Given the description of an element on the screen output the (x, y) to click on. 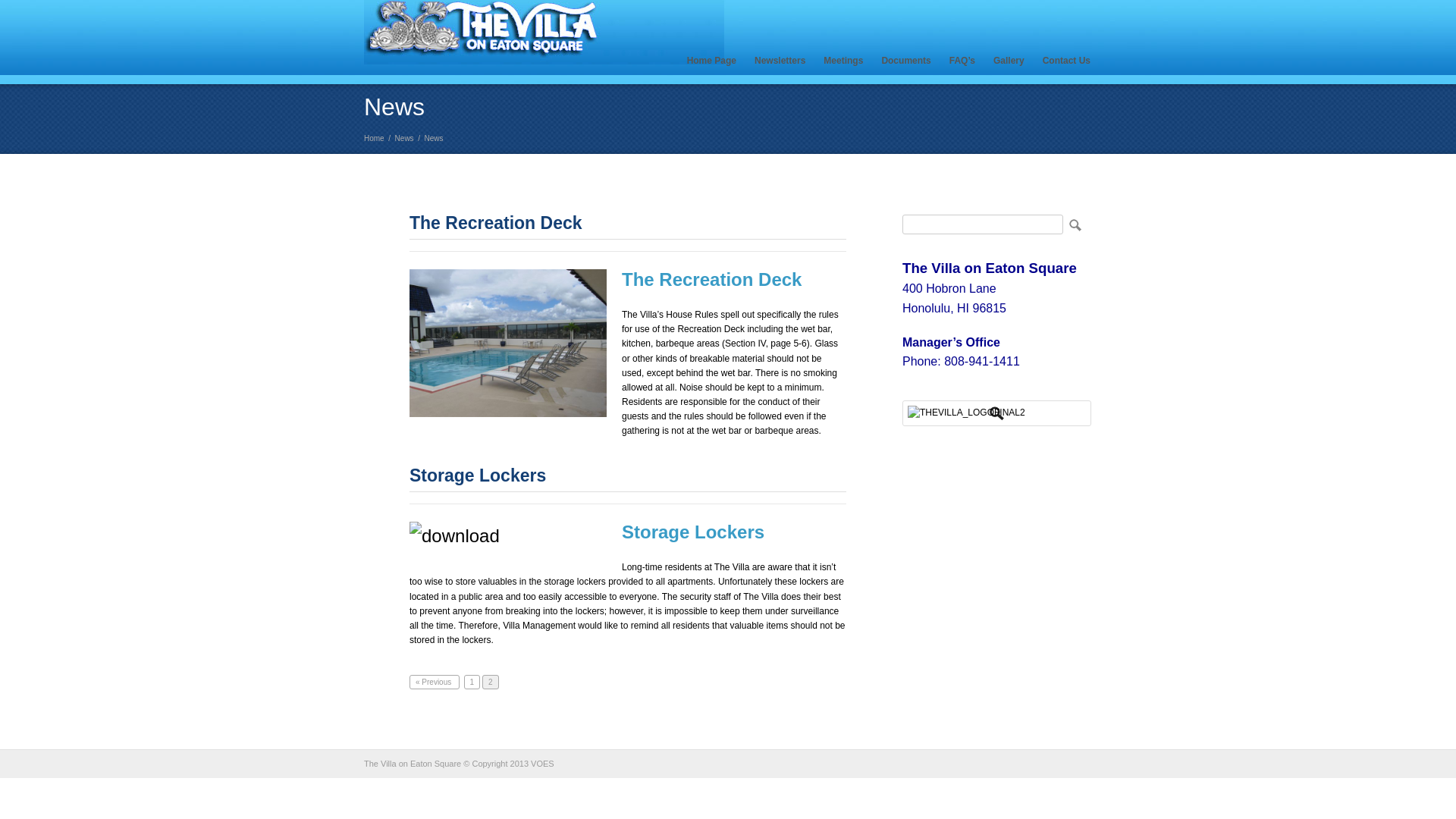
Gallery (1008, 60)
Storage Lockers (477, 475)
2 (490, 681)
Search (1074, 224)
Documents (905, 60)
Permalink to The Recreation Deck (495, 222)
Home (374, 138)
Search (1074, 224)
News (403, 138)
Contact Us (1066, 60)
